Given the description of an element on the screen output the (x, y) to click on. 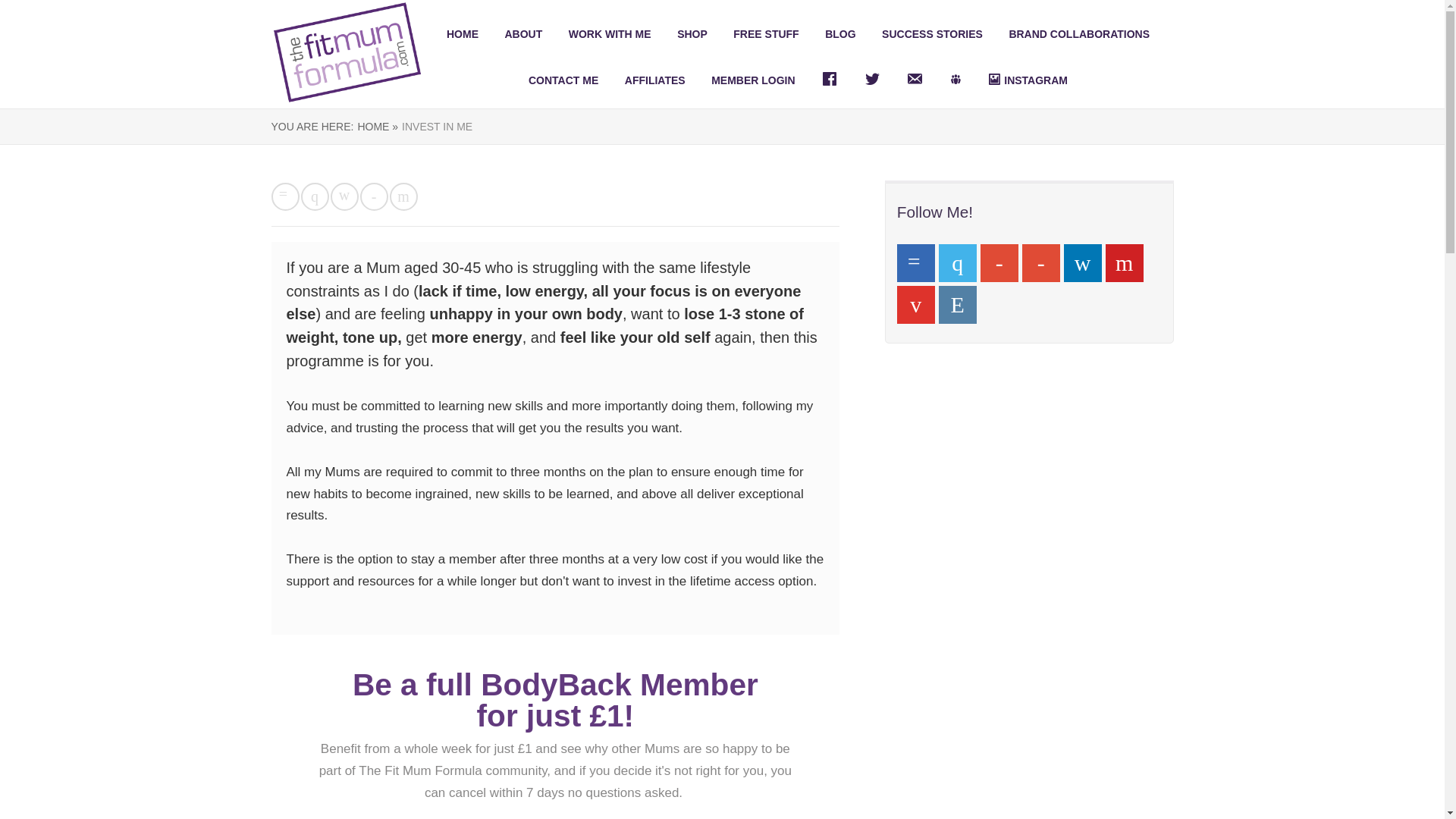
HOME (462, 33)
SUCCESS STORIES (932, 33)
SHOP (692, 33)
FREE STUFF (765, 33)
BLOG (840, 33)
AFFILIATES (654, 80)
ABOUT (522, 33)
BRAND COLLABORATIONS (1079, 33)
CONTACT ME (563, 80)
WORK WITH ME (609, 33)
